Given the description of an element on the screen output the (x, y) to click on. 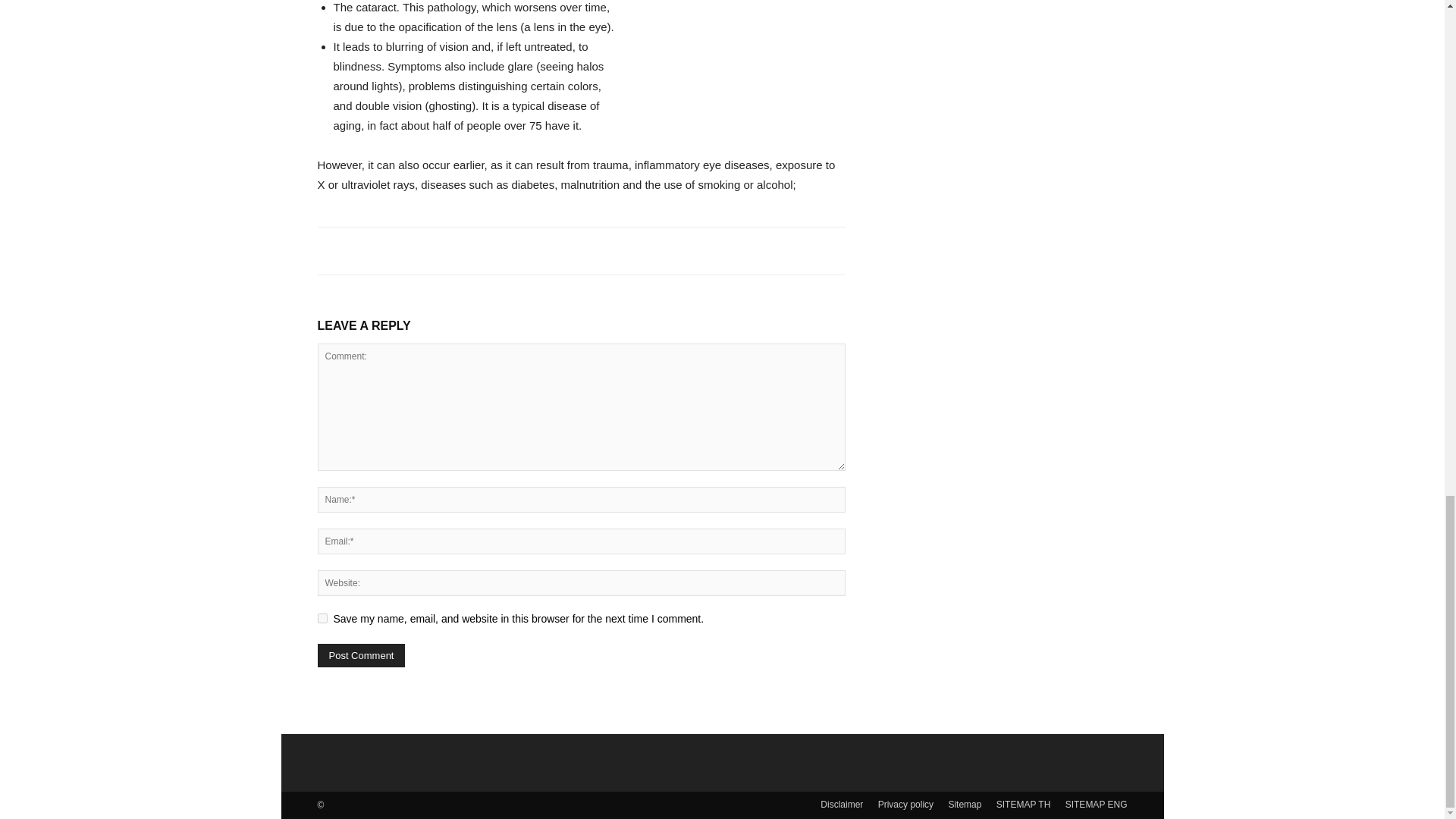
Post Comment (360, 655)
Privacy policy (905, 804)
Post Comment (360, 655)
SITEMAP TH (1023, 804)
SITEMAP ENG (1095, 804)
Sitemap (964, 804)
Disclaimer (842, 804)
yes (321, 618)
